Given the description of an element on the screen output the (x, y) to click on. 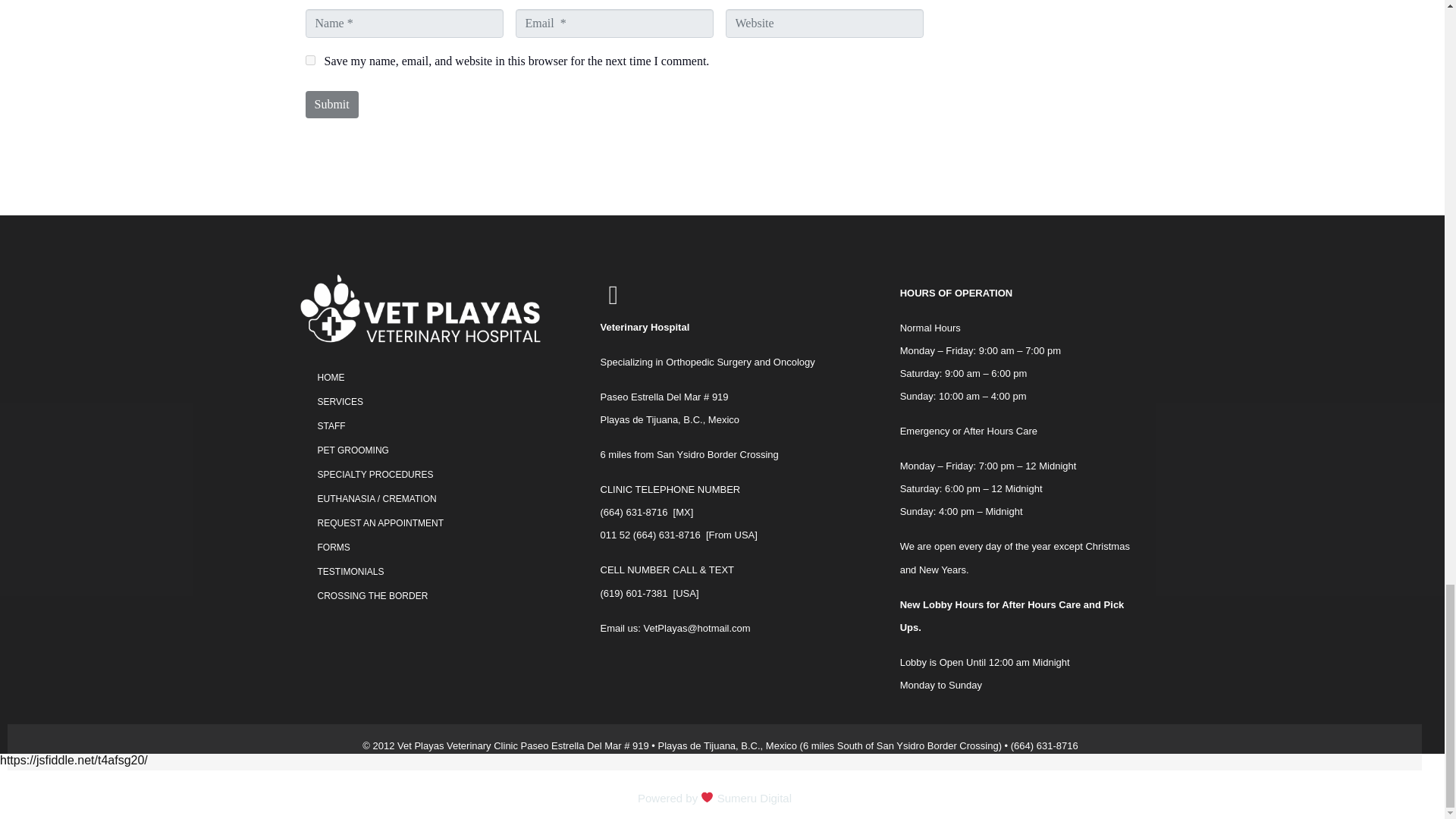
yes (309, 60)
